Given the description of an element on the screen output the (x, y) to click on. 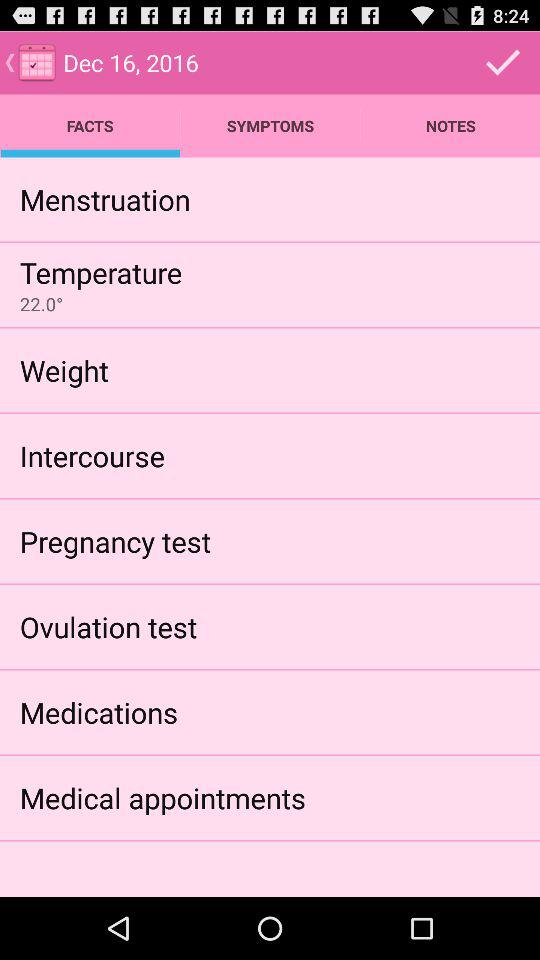
save the info (503, 62)
